Given the description of an element on the screen output the (x, y) to click on. 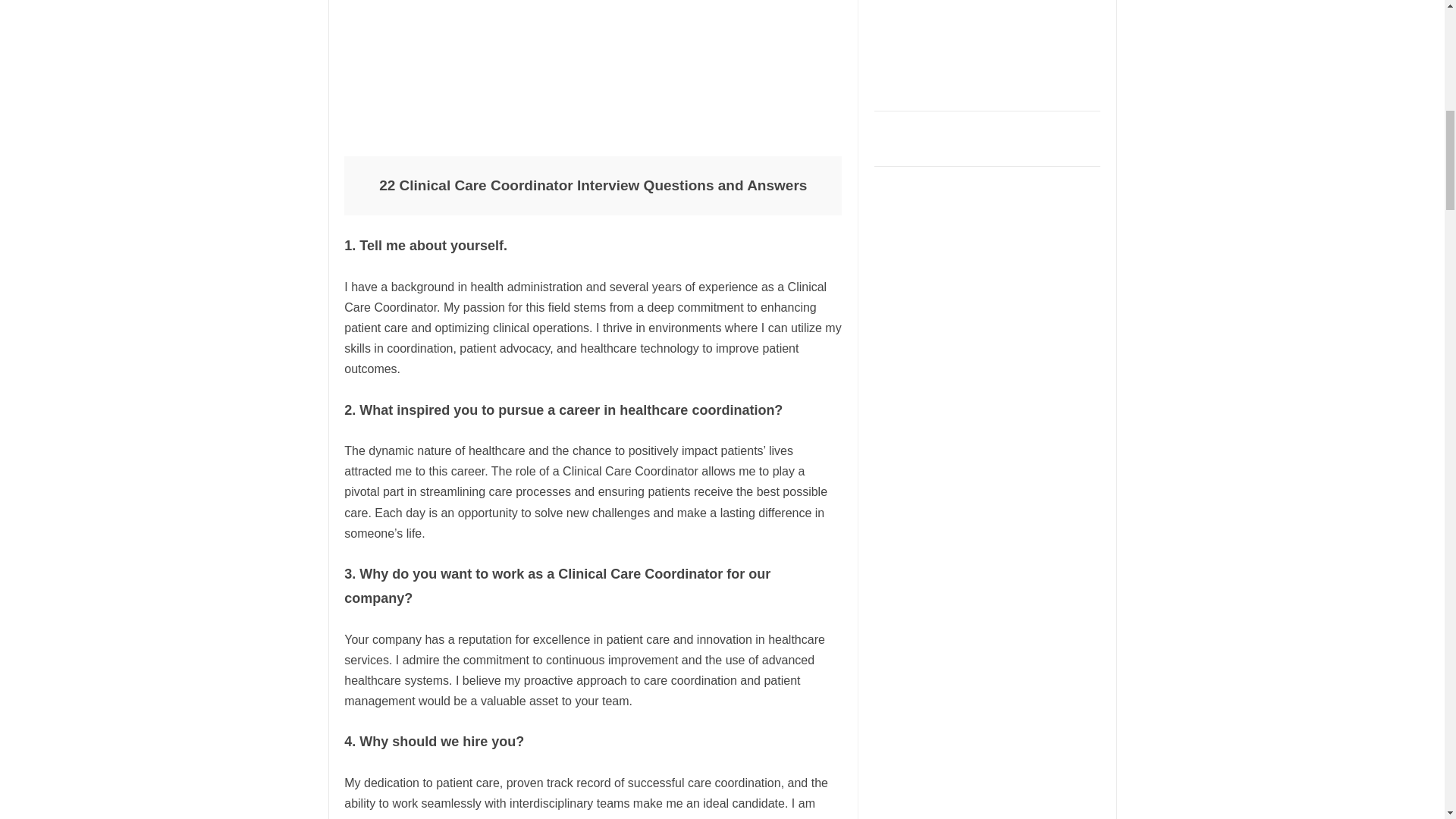
Advertisement (592, 69)
Advertisement (988, 50)
